Given the description of an element on the screen output the (x, y) to click on. 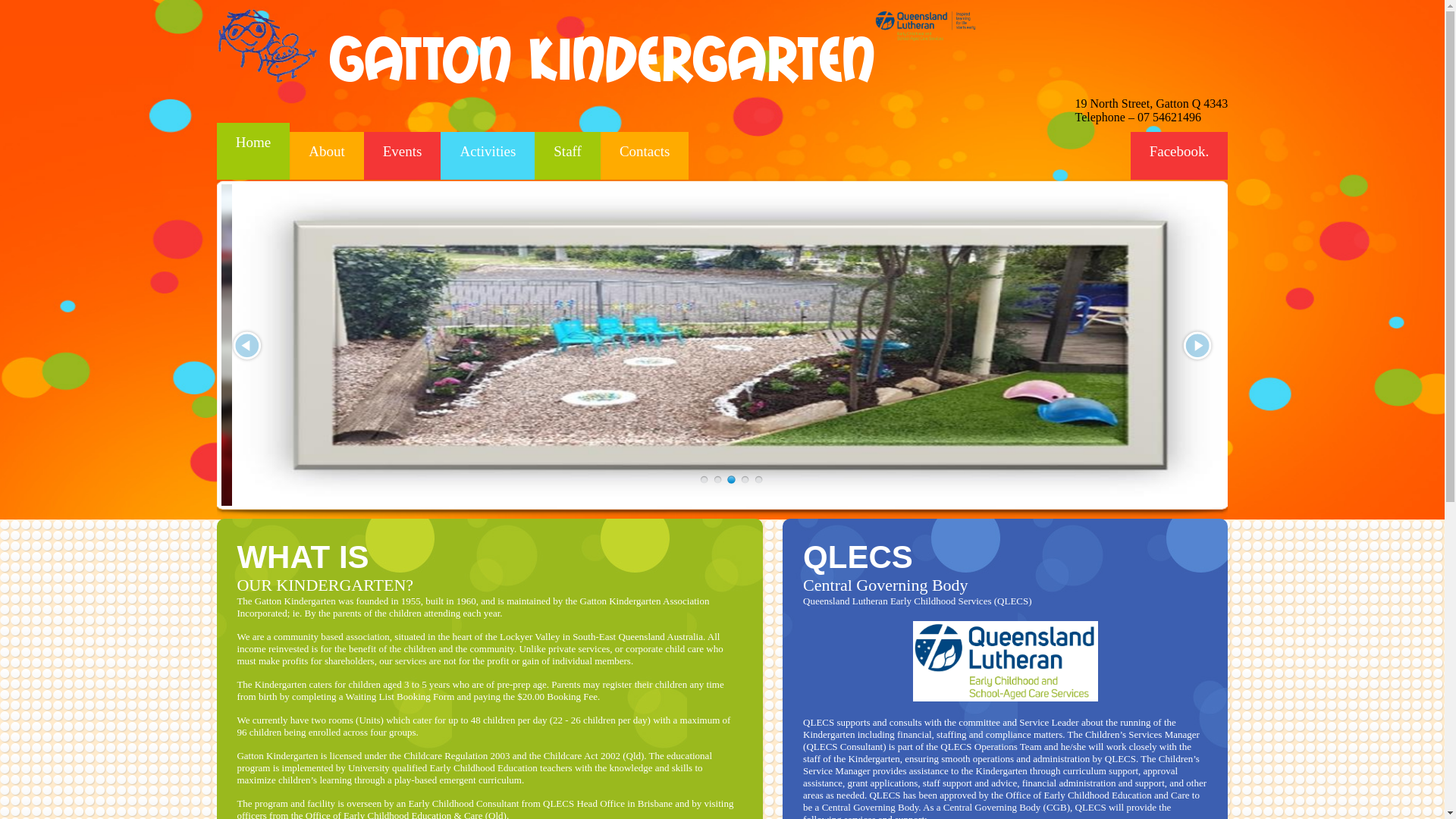
Facebook. Element type: text (1179, 155)
About Element type: text (326, 155)
slide-5 Element type: hover (703, 479)
Staff Element type: text (567, 155)
slide-2 Element type: hover (730, 479)
Gatton Kindergarten Element type: text (602, 59)
slide-1 Element type: hover (716, 479)
Activities Element type: text (487, 155)
slide-4 Element type: hover (757, 479)
Contacts Element type: text (644, 155)
Home Element type: text (252, 150)
Events Element type: text (402, 155)
slide-3 Element type: hover (743, 479)
